Given the description of an element on the screen output the (x, y) to click on. 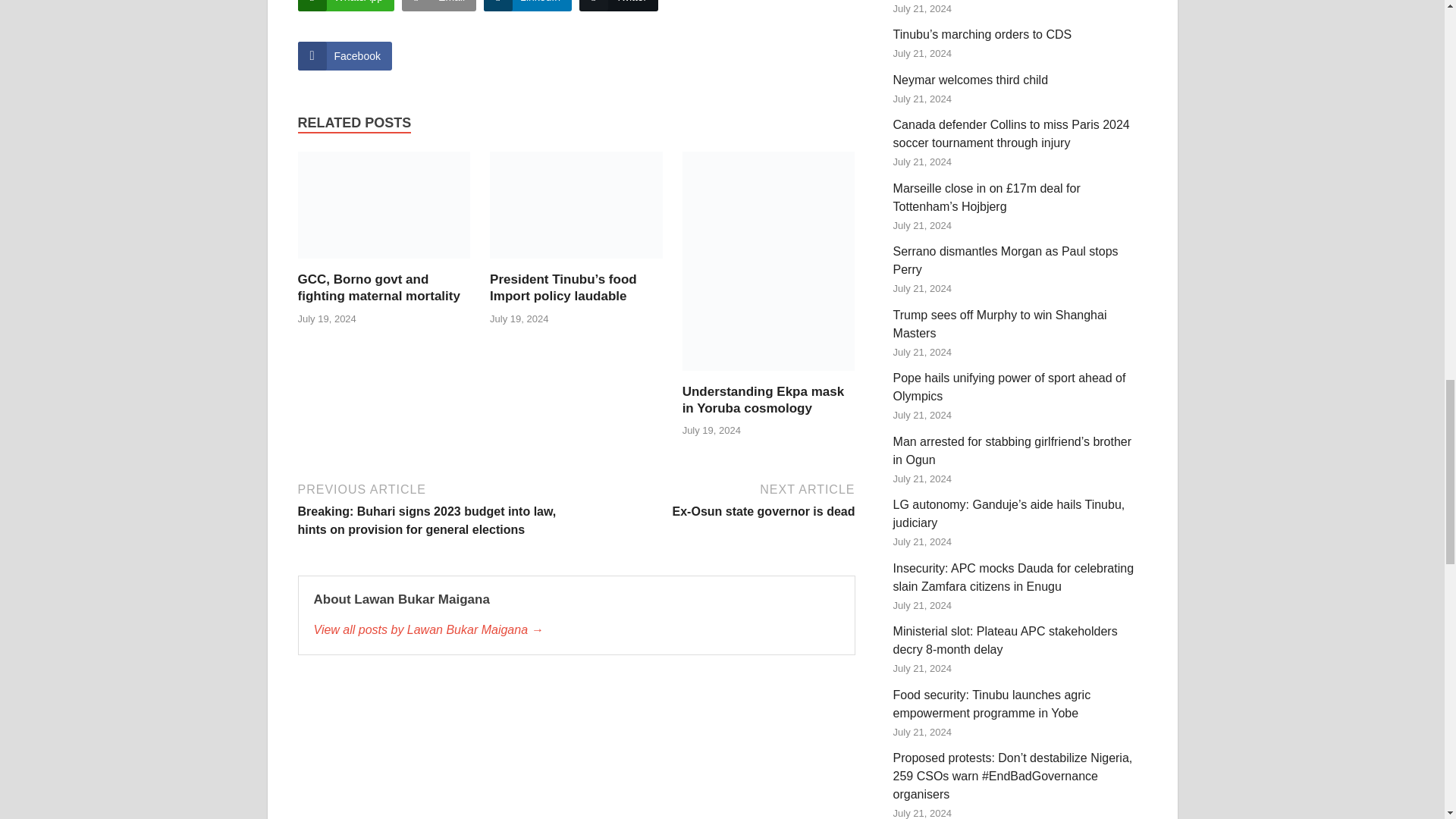
Lawan Bukar Maigana (577, 629)
GCC, Borno govt and fighting maternal mortality (378, 287)
GCC, Borno govt and fighting maternal mortality (383, 210)
Understanding Ekpa mask in Yoruba cosmology (769, 266)
Understanding Ekpa mask in Yoruba cosmology (763, 399)
